Given the description of an element on the screen output the (x, y) to click on. 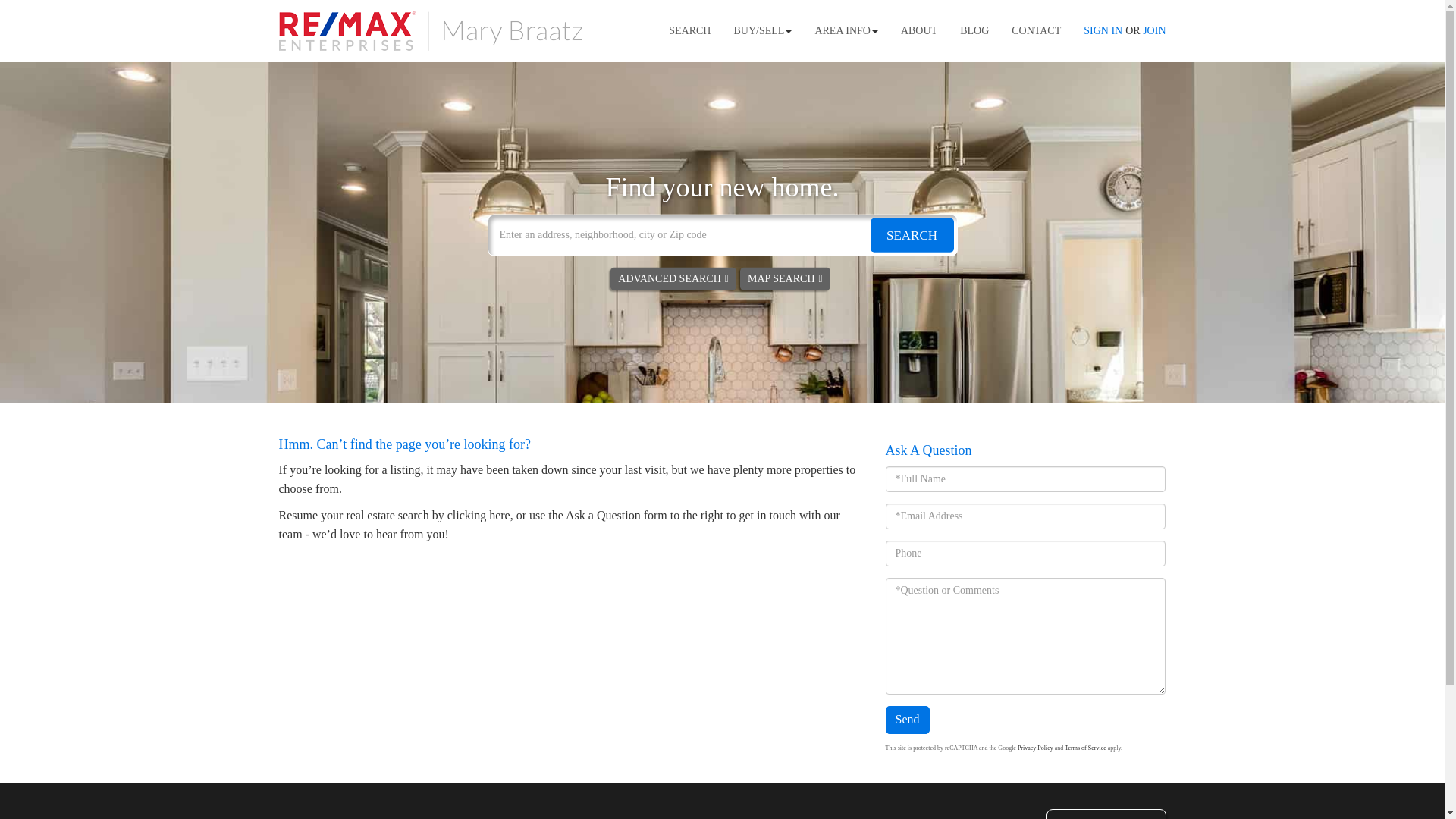
AREA INFO (846, 31)
SIGN IN (1102, 30)
SEARCH (690, 31)
JOIN (1154, 30)
CONTACT (1035, 31)
MAP SEARCH (784, 277)
ABOUT (919, 31)
SEARCH (911, 234)
ADVANCED SEARCH (673, 277)
here (500, 514)
